Given the description of an element on the screen output the (x, y) to click on. 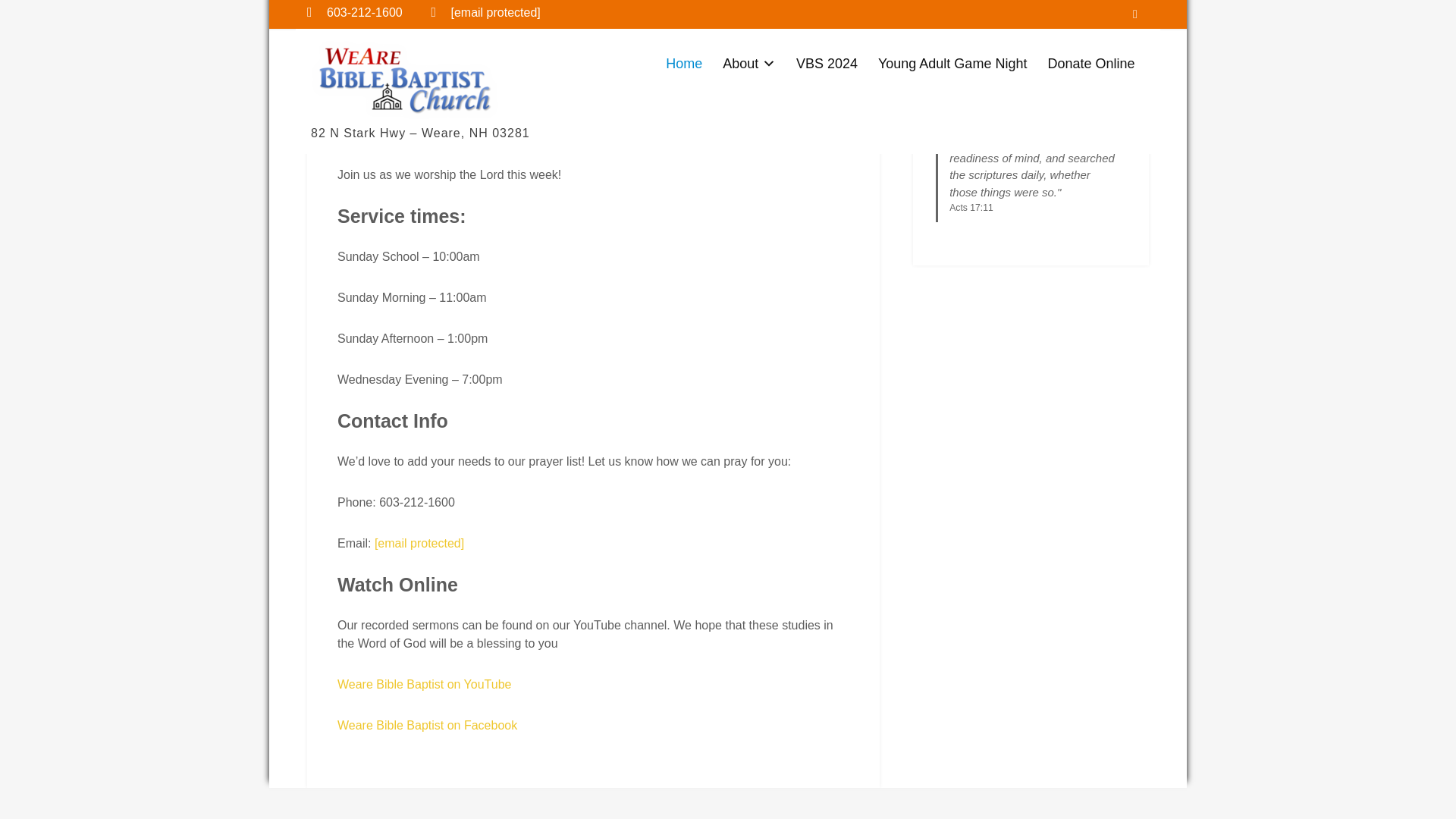
Weare Bible Baptist on Facebook (426, 725)
VBS 2024 (826, 63)
About (749, 63)
Donate Online (1090, 63)
Young Adult Game Night (951, 63)
Home (684, 63)
Weare Bible Baptist on YouTube (424, 684)
